Given the description of an element on the screen output the (x, y) to click on. 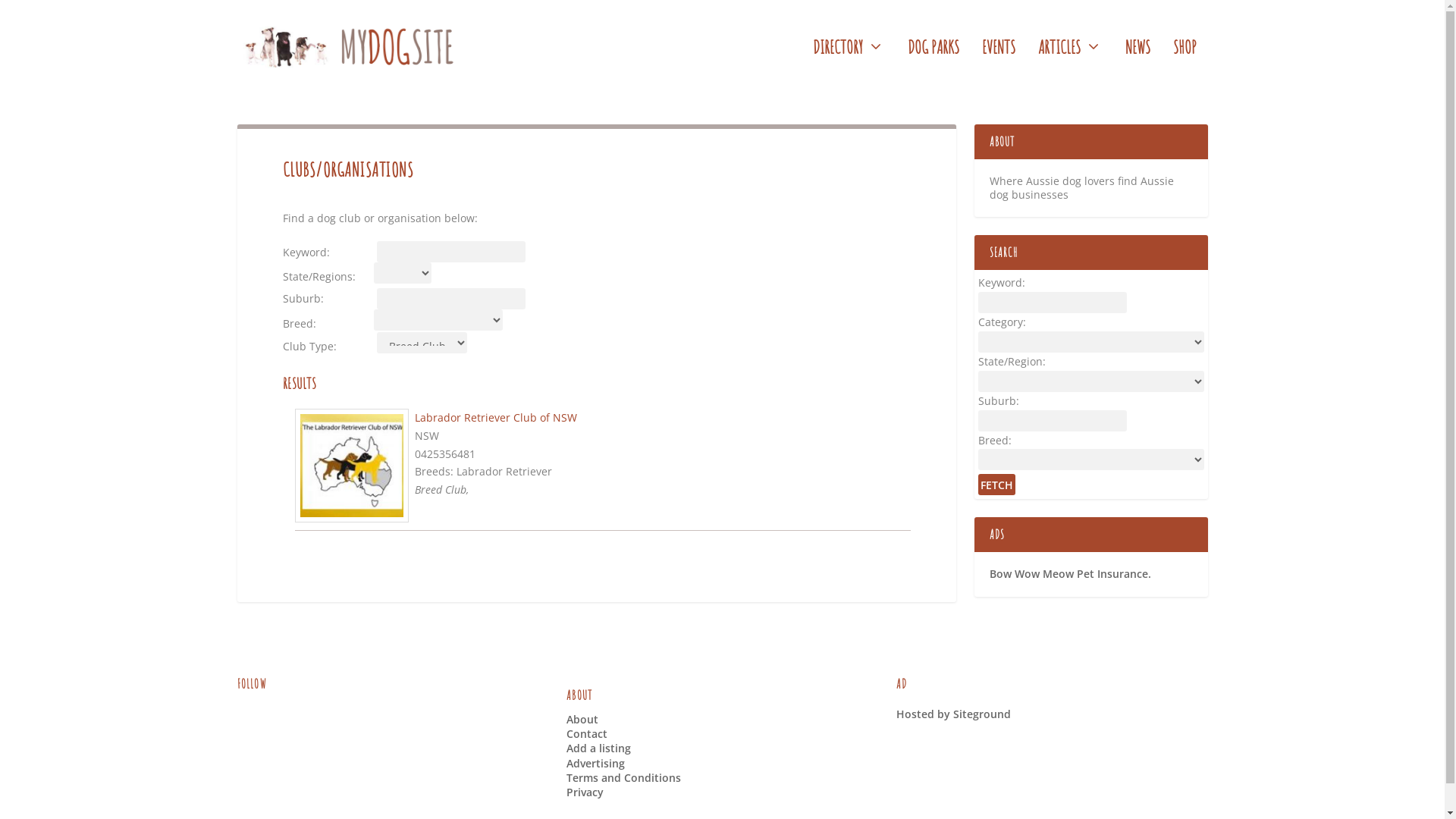
About Element type: text (582, 719)
DIRECTORY Element type: text (848, 67)
Advertising Element type: text (595, 763)
Labrador Retriever Club of NSW Element type: text (495, 417)
Add a listing Element type: text (598, 747)
SHOP Element type: text (1183, 67)
Bow Wow Meow Pet Insurance. Element type: text (1069, 573)
Contact Element type: text (586, 733)
Hosted by Siteground Element type: text (953, 713)
Fetch Element type: text (996, 484)
ARTICLES Element type: text (1069, 67)
Terms and Conditions Element type: text (623, 777)
Privacy Element type: text (584, 791)
DOG PARKS Element type: text (932, 67)
EVENTS Element type: text (997, 67)
NEWS Element type: text (1137, 67)
